Given the description of an element on the screen output the (x, y) to click on. 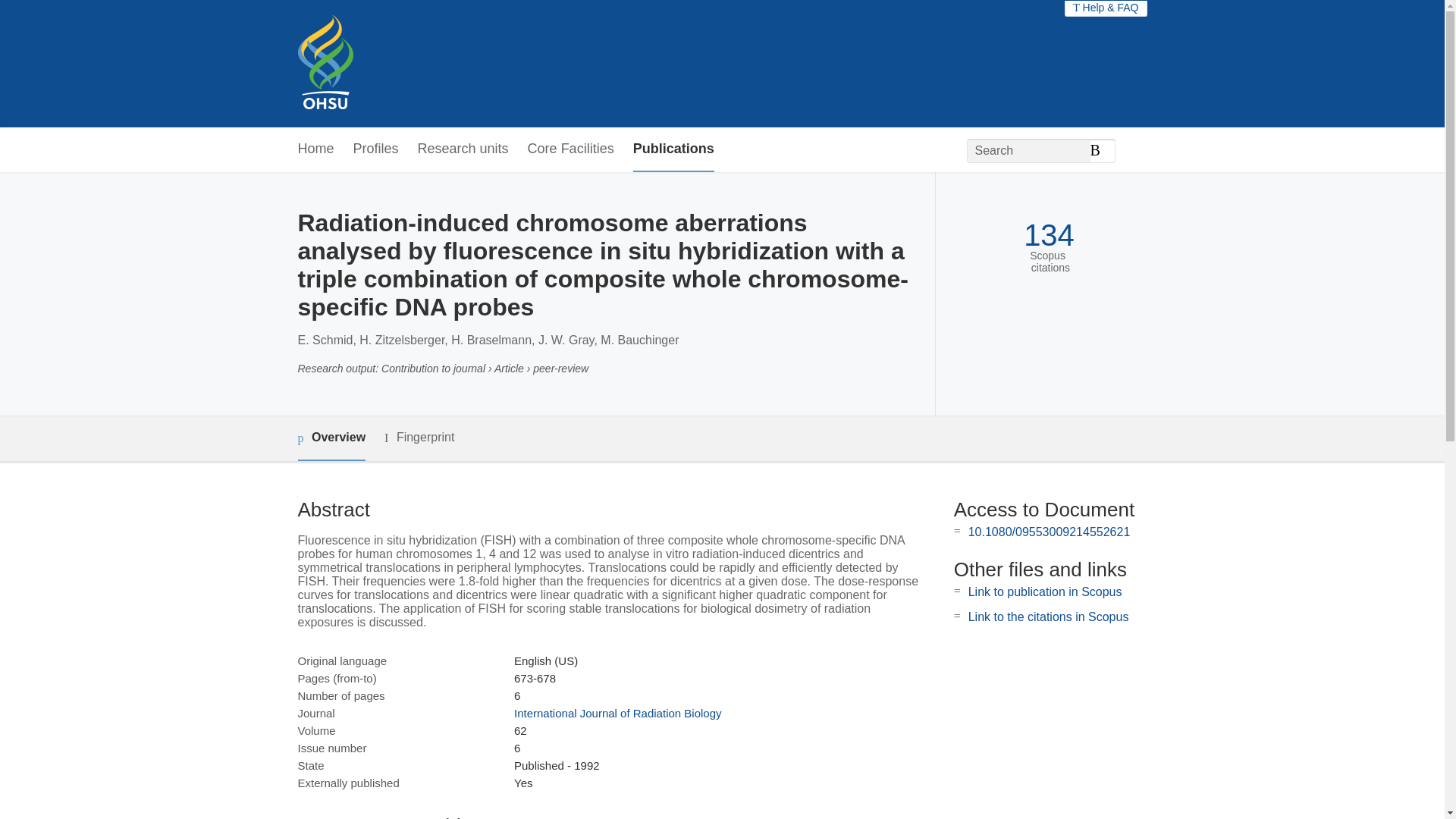
Research units (462, 149)
Core Facilities (570, 149)
International Journal of Radiation Biology (617, 712)
Home (315, 149)
Overview (331, 438)
Publications (673, 149)
Link to publication in Scopus (1045, 591)
Profiles (375, 149)
Fingerprint (419, 437)
Link to the citations in Scopus (1048, 616)
134 (1048, 234)
